Given the description of an element on the screen output the (x, y) to click on. 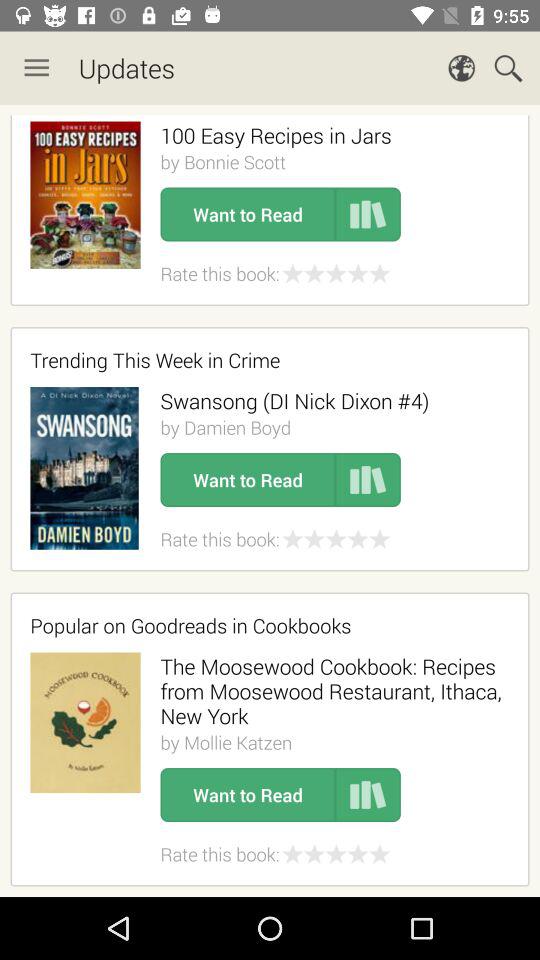
launch the item below rate this book: (263, 625)
